Given the description of an element on the screen output the (x, y) to click on. 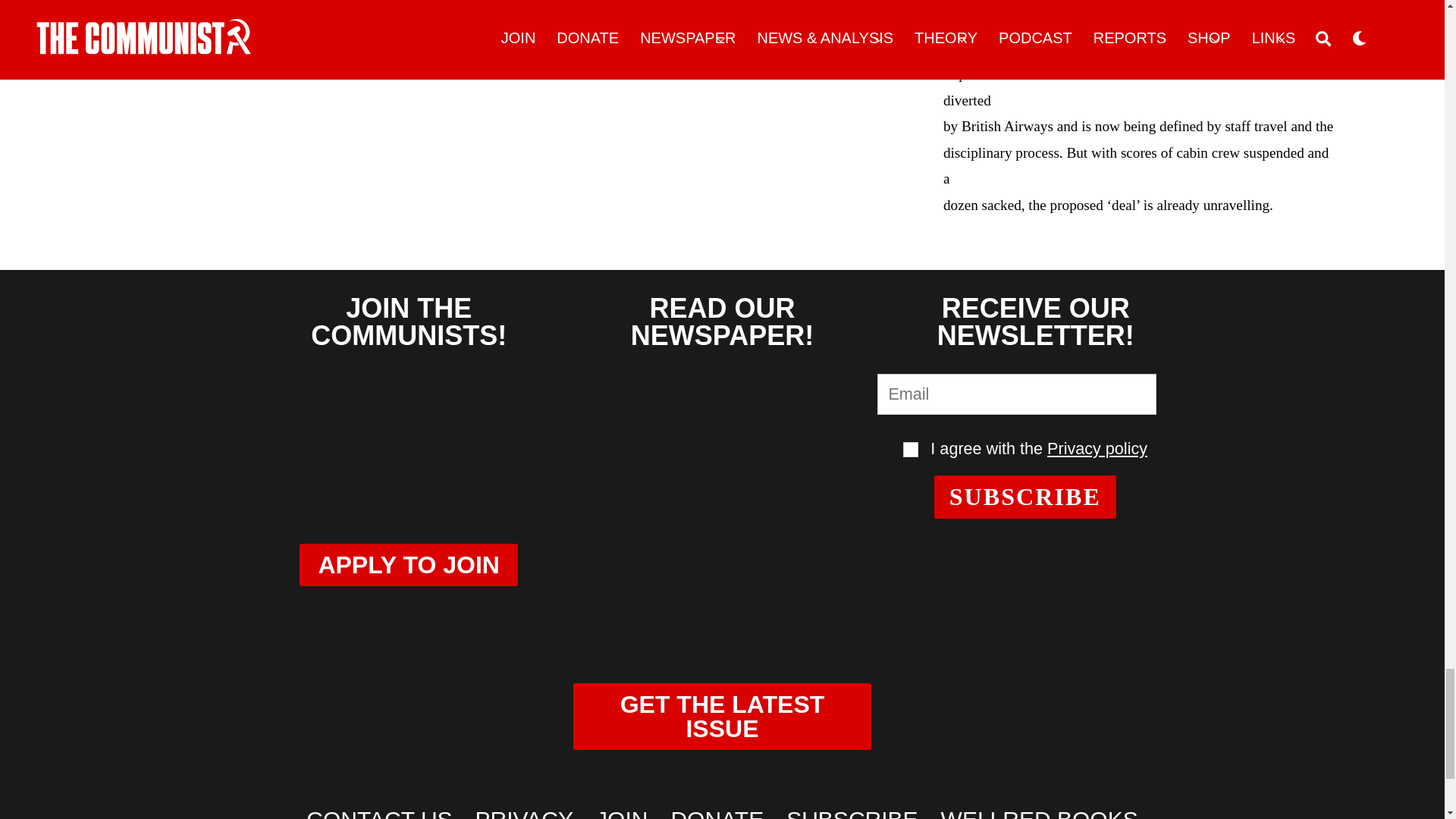
Terms and conditions (910, 449)
Privacy policy (1096, 447)
on (910, 449)
